Given the description of an element on the screen output the (x, y) to click on. 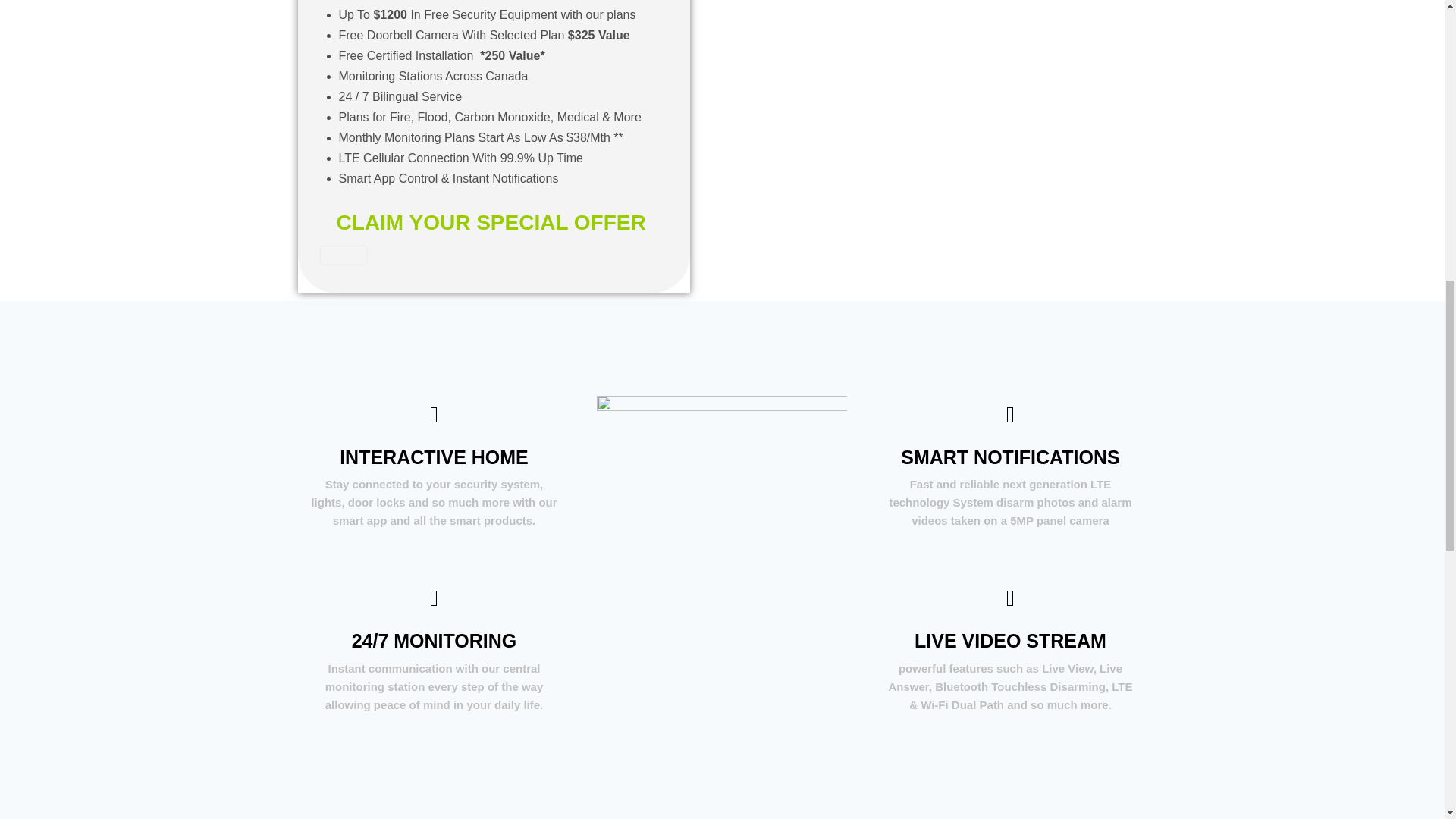
CLAIM YOUR SPECIAL OFFER (491, 222)
